Given the description of an element on the screen output the (x, y) to click on. 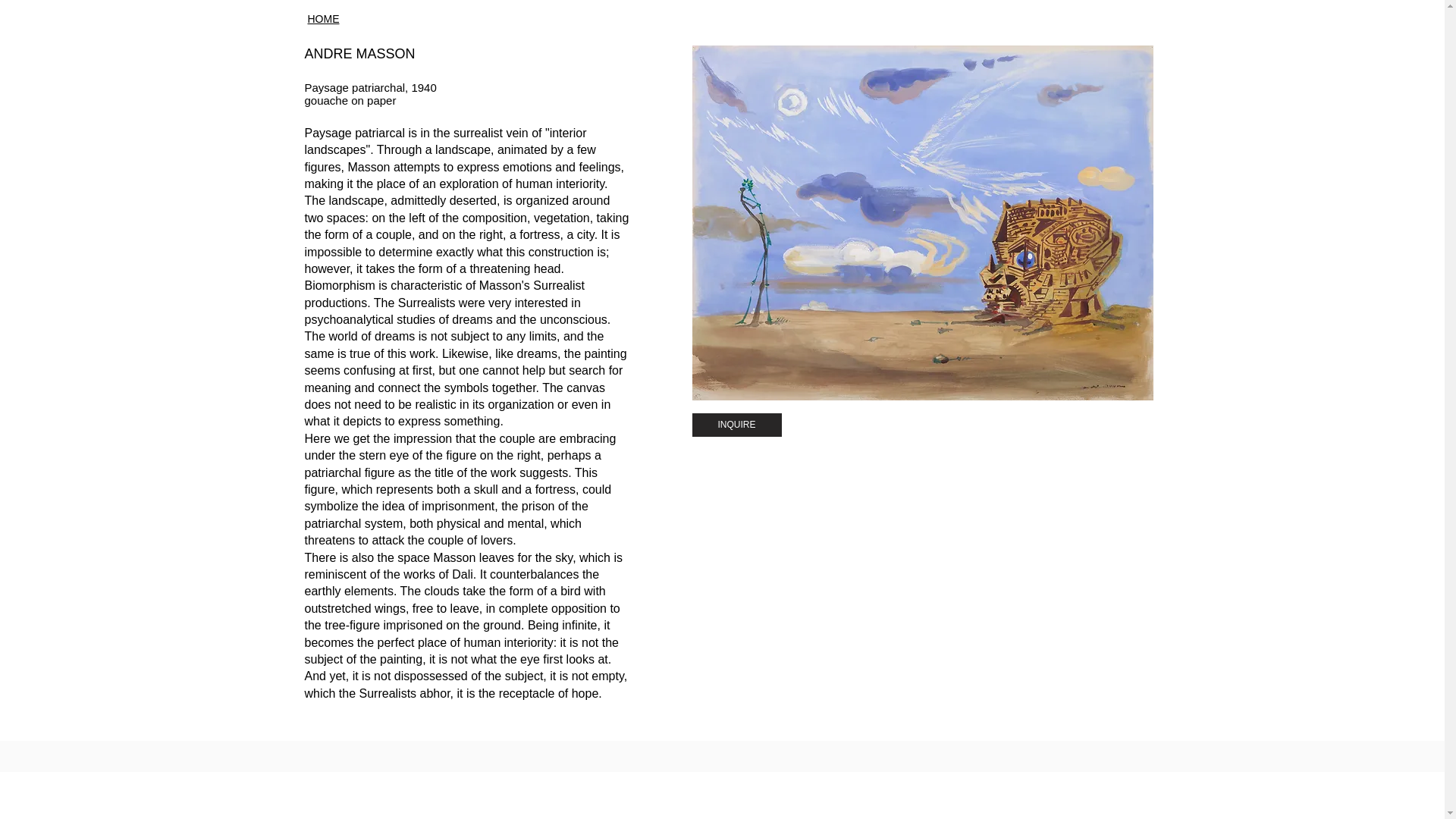
ANDRE MASSON (359, 53)
HOME (323, 19)
INQUIRE (735, 424)
